Given the description of an element on the screen output the (x, y) to click on. 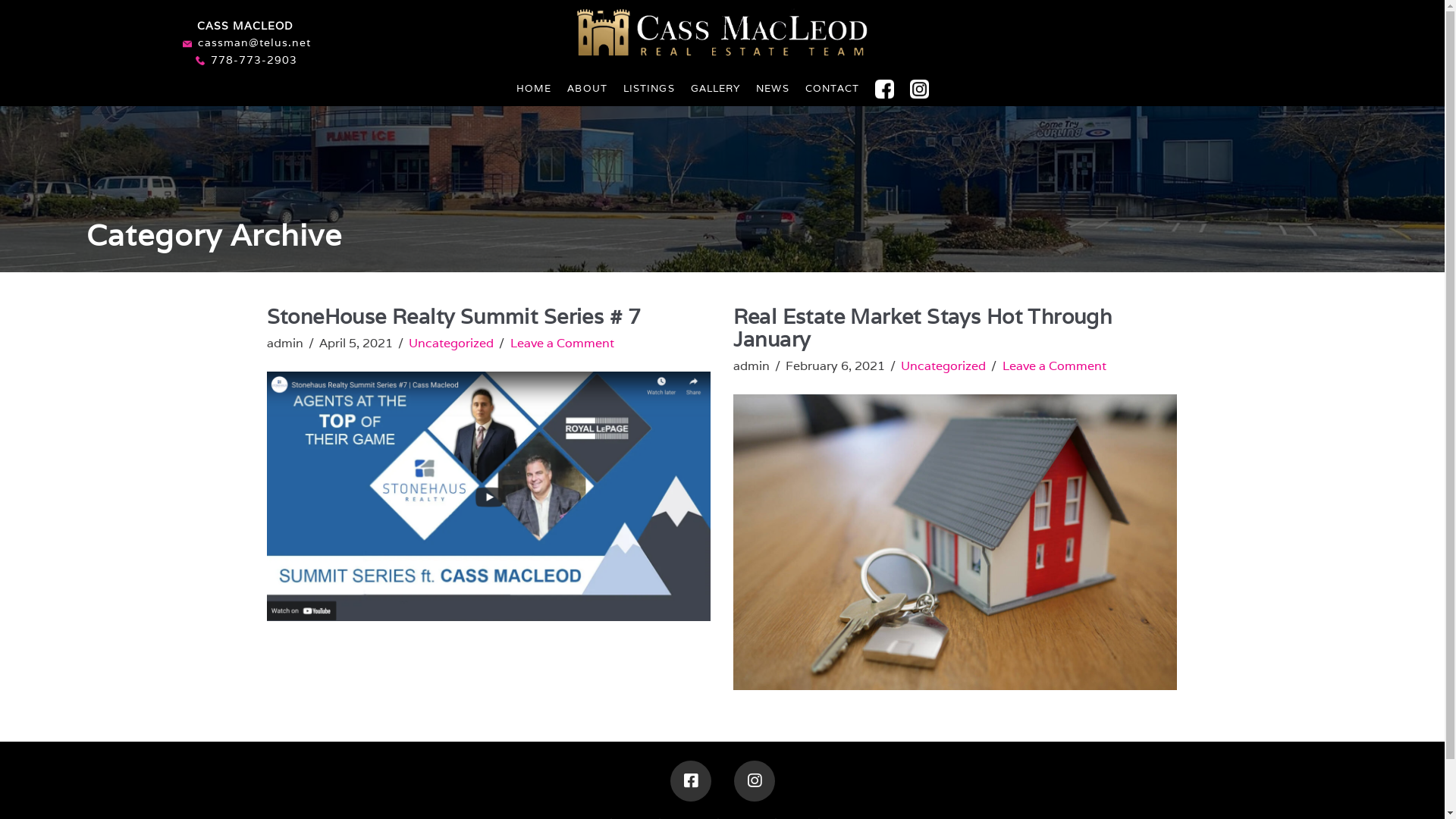
cassman@telus.net Element type: text (253, 42)
Real Estate Market Stays Hot Through January Element type: text (921, 327)
NEWS Element type: text (771, 87)
Leave a Comment Element type: text (1054, 365)
Uncategorized Element type: text (450, 343)
GALLERY Element type: text (715, 87)
StoneHouse Realty Summit Series # 7 Element type: text (453, 315)
CONTACT Element type: text (832, 87)
Permalink to: "Real Estate Market Stays Hot Through January" Element type: hover (954, 542)
Instagram Element type: hover (754, 780)
ABOUT Element type: text (586, 87)
Leave a Comment Element type: text (562, 343)
Facebook Element type: hover (690, 780)
LISTINGS Element type: text (648, 87)
Uncategorized Element type: text (942, 365)
Permalink to: "StoneHouse Realty Summit Series # 7" Element type: hover (488, 496)
HOME Element type: text (533, 87)
